Given the description of an element on the screen output the (x, y) to click on. 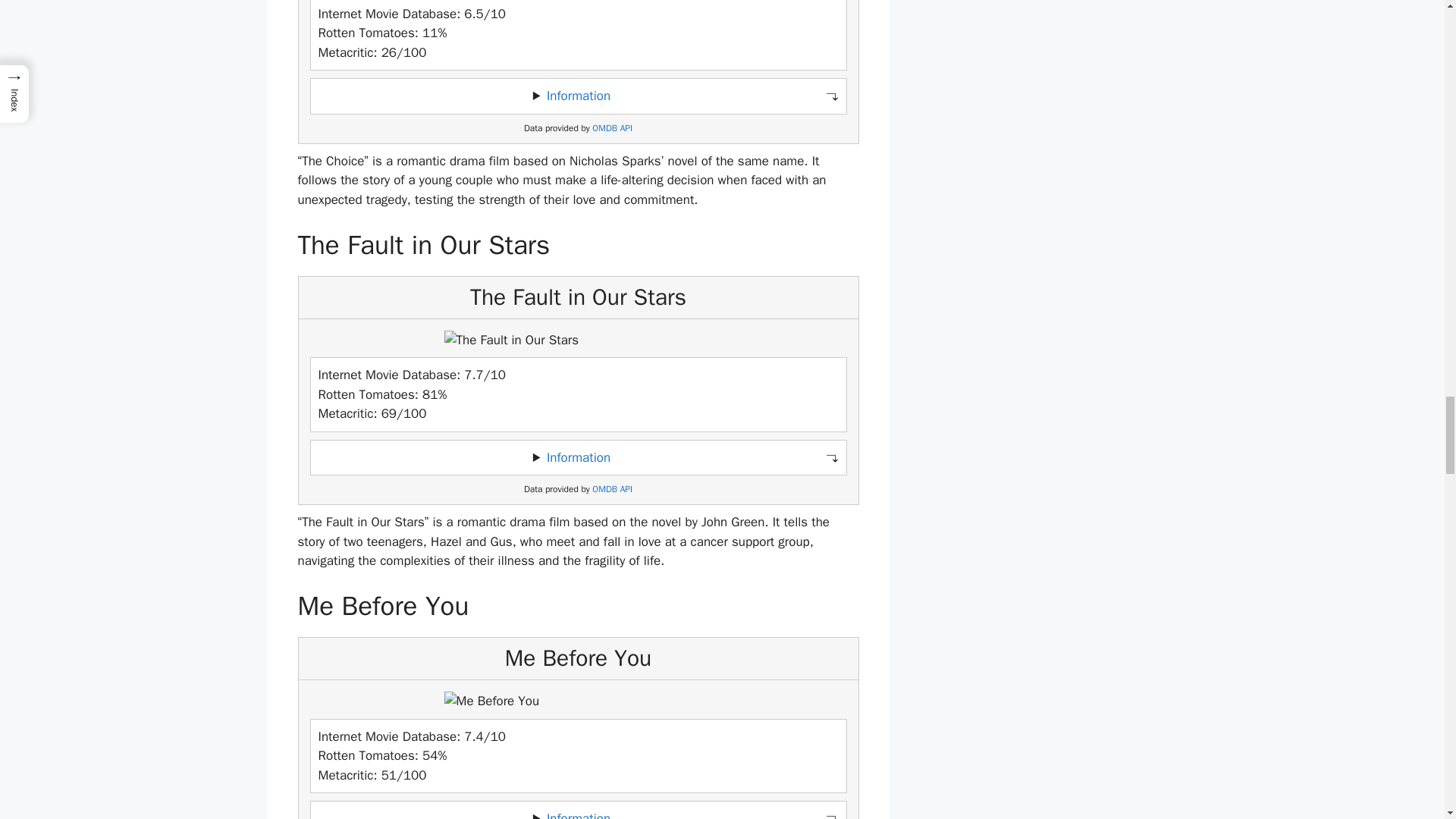
Information (578, 95)
OMDB API (611, 489)
Information (578, 814)
Information (578, 457)
OMDB API (611, 128)
